Given the description of an element on the screen output the (x, y) to click on. 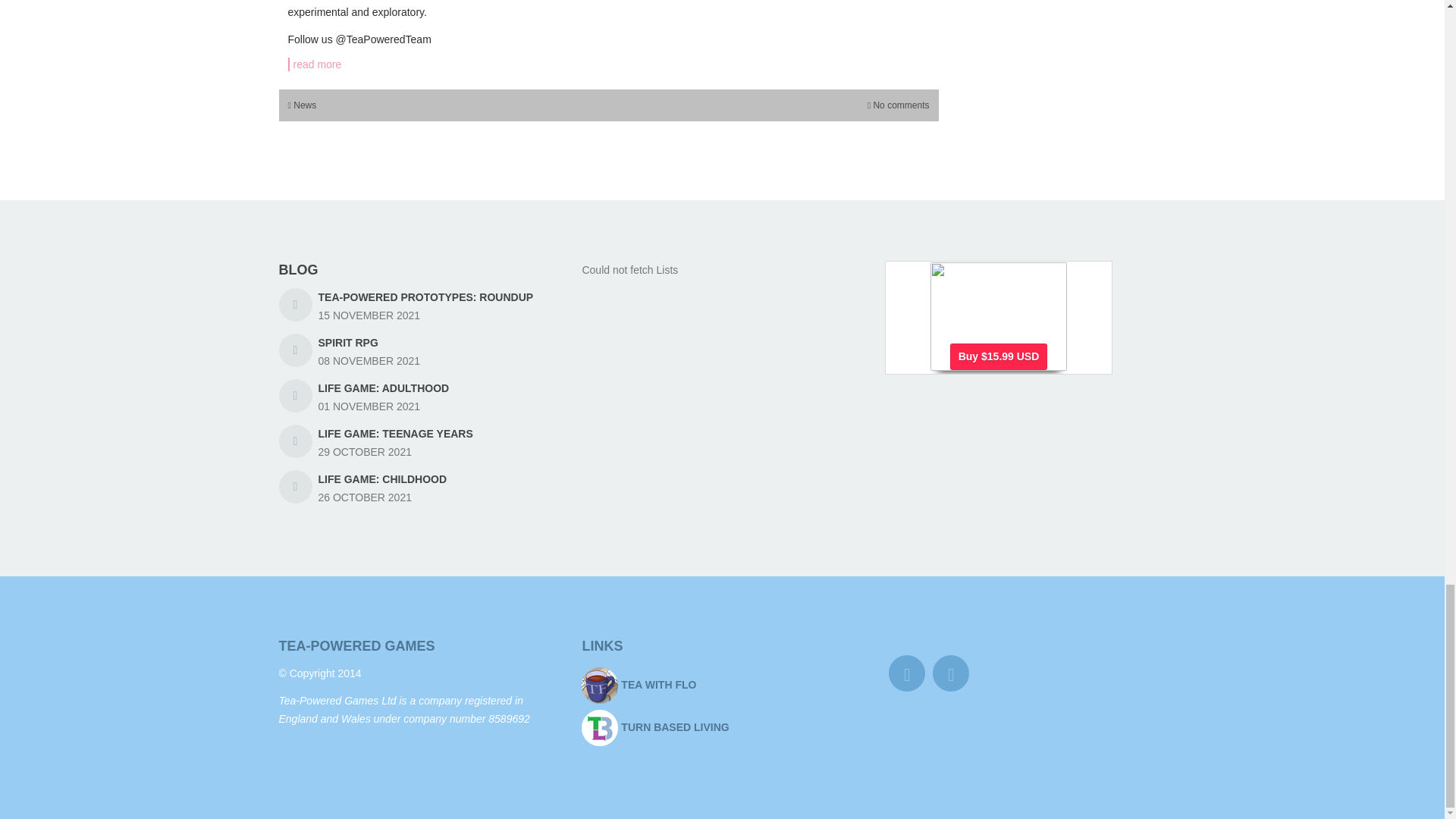
Spirit RPG (348, 342)
Tea-Powered Prototypes: Roundup (426, 297)
read more (609, 64)
Life Game: Teenage Years (395, 433)
Life Game: Childhood (382, 479)
Life Game: Adulthood (383, 387)
No comments (900, 104)
News (304, 104)
